Given the description of an element on the screen output the (x, y) to click on. 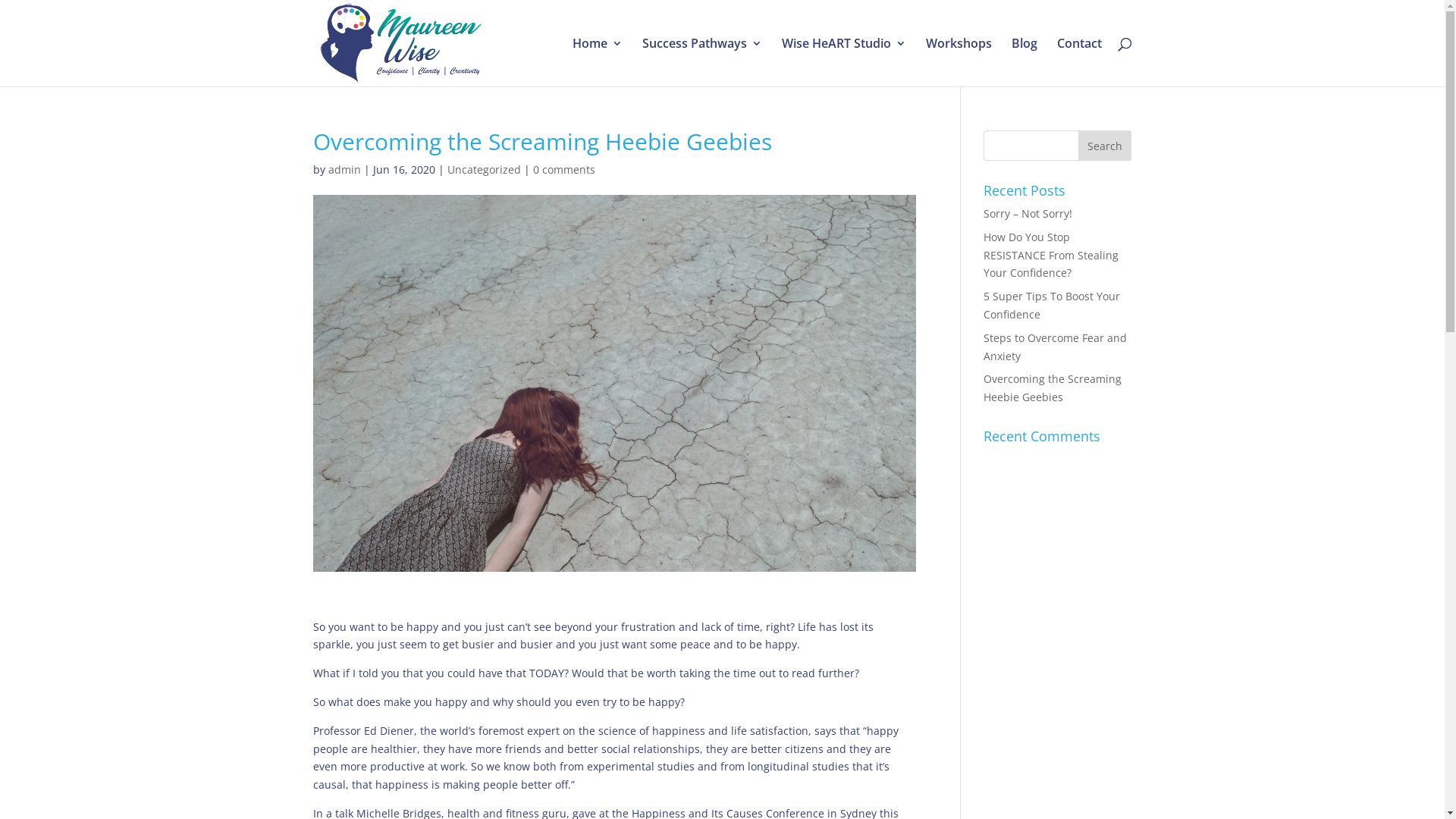
Uncategorized Element type: text (483, 169)
Steps to Overcome Fear and Anxiety Element type: text (1054, 346)
Workshops Element type: text (958, 61)
admin Element type: text (343, 169)
0 comments Element type: text (563, 169)
5 Super Tips To Boost Your Confidence Element type: text (1051, 304)
Contact Element type: text (1079, 61)
Search Element type: text (1104, 145)
How Do You Stop RESISTANCE From Stealing Your Confidence? Element type: text (1050, 254)
Wise HeART Studio Element type: text (843, 61)
Blog Element type: text (1024, 61)
Success Pathways Element type: text (701, 61)
Overcoming the Screaming Heebie Geebies Element type: text (1052, 387)
Home Element type: text (596, 61)
